Given the description of an element on the screen output the (x, y) to click on. 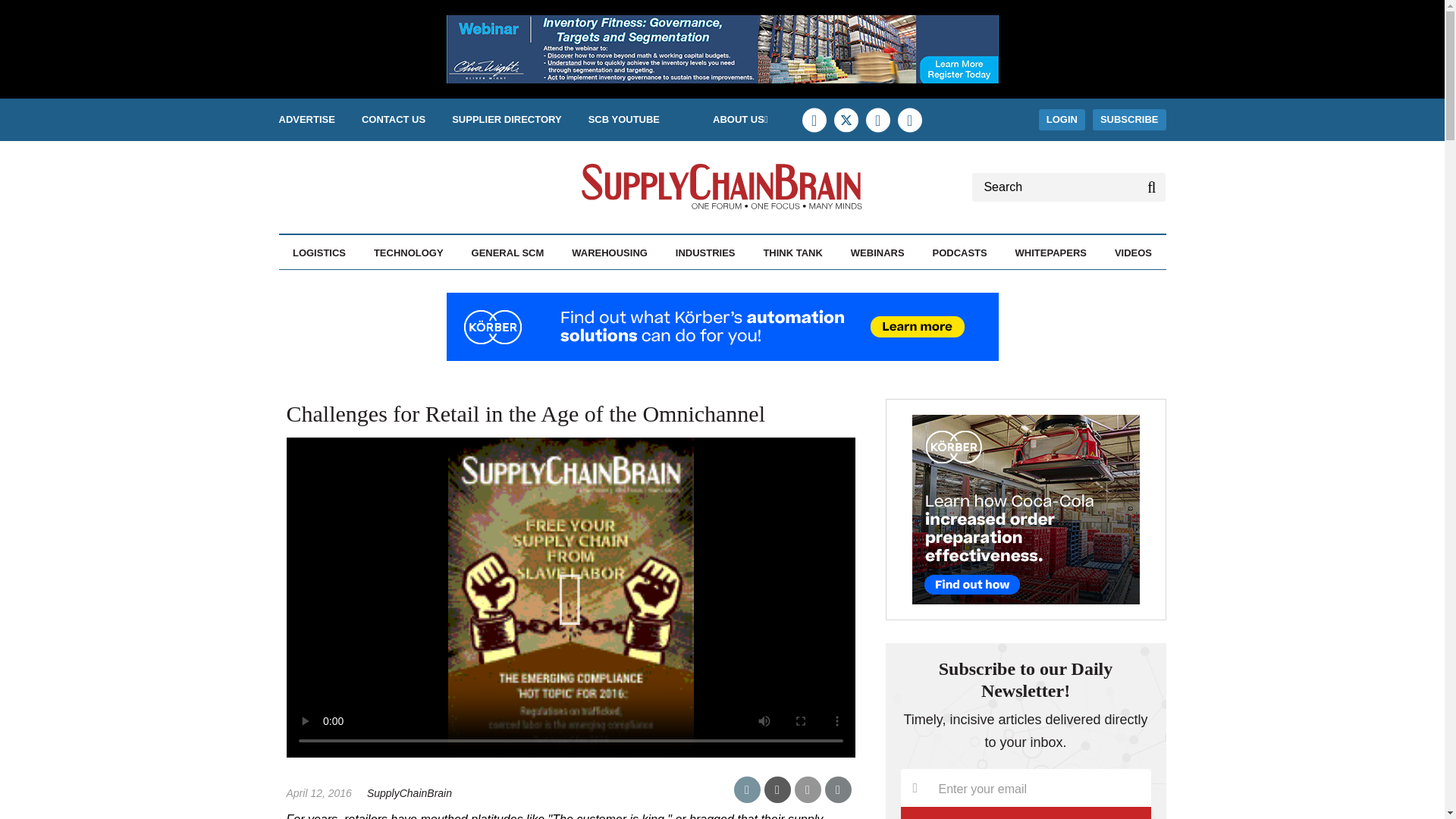
Subscribe (1026, 812)
Oliver Wight  - WEBINAR (721, 49)
